Given the description of an element on the screen output the (x, y) to click on. 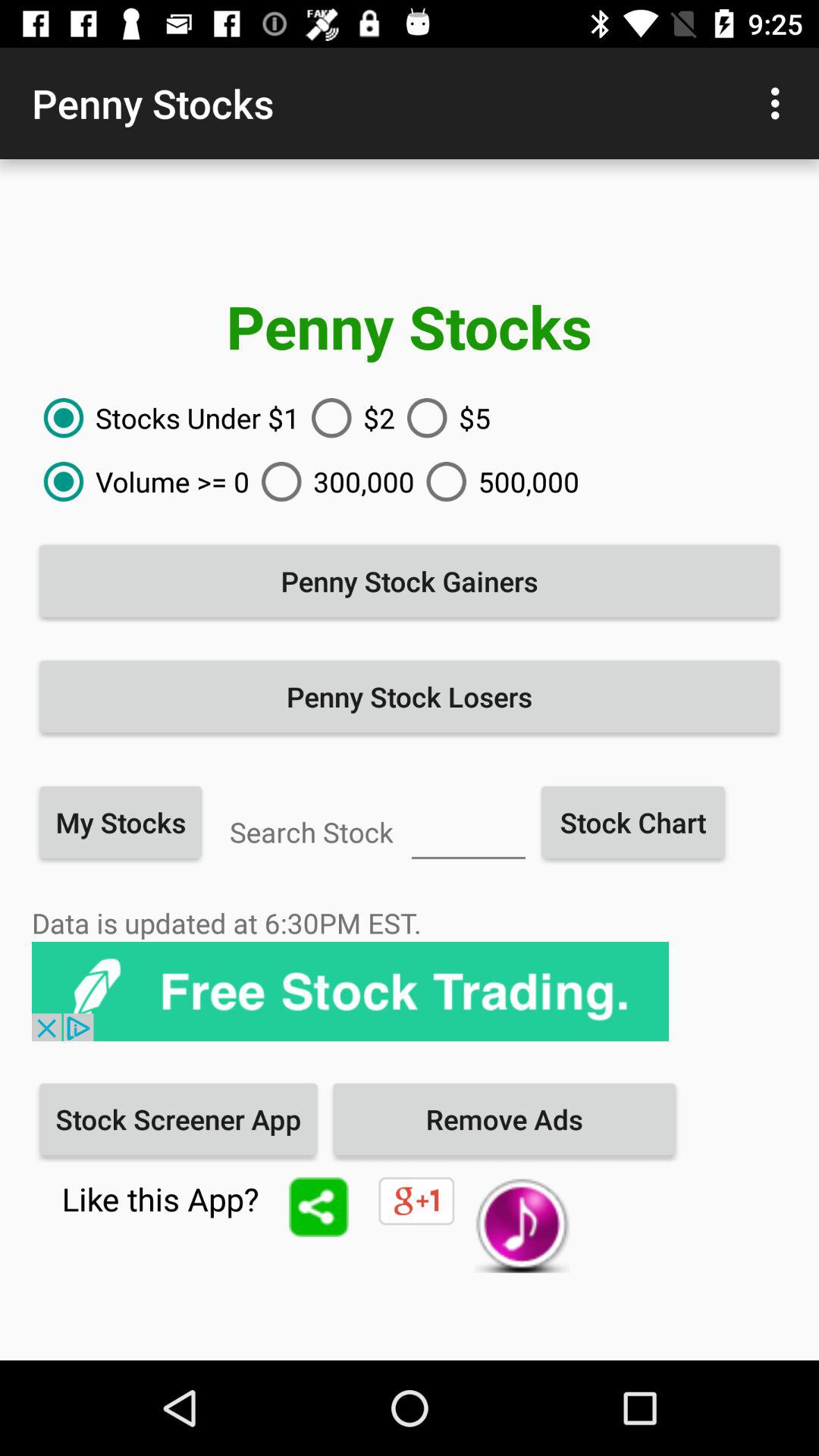
click icon above 300,000 icon (347, 417)
